Given the description of an element on the screen output the (x, y) to click on. 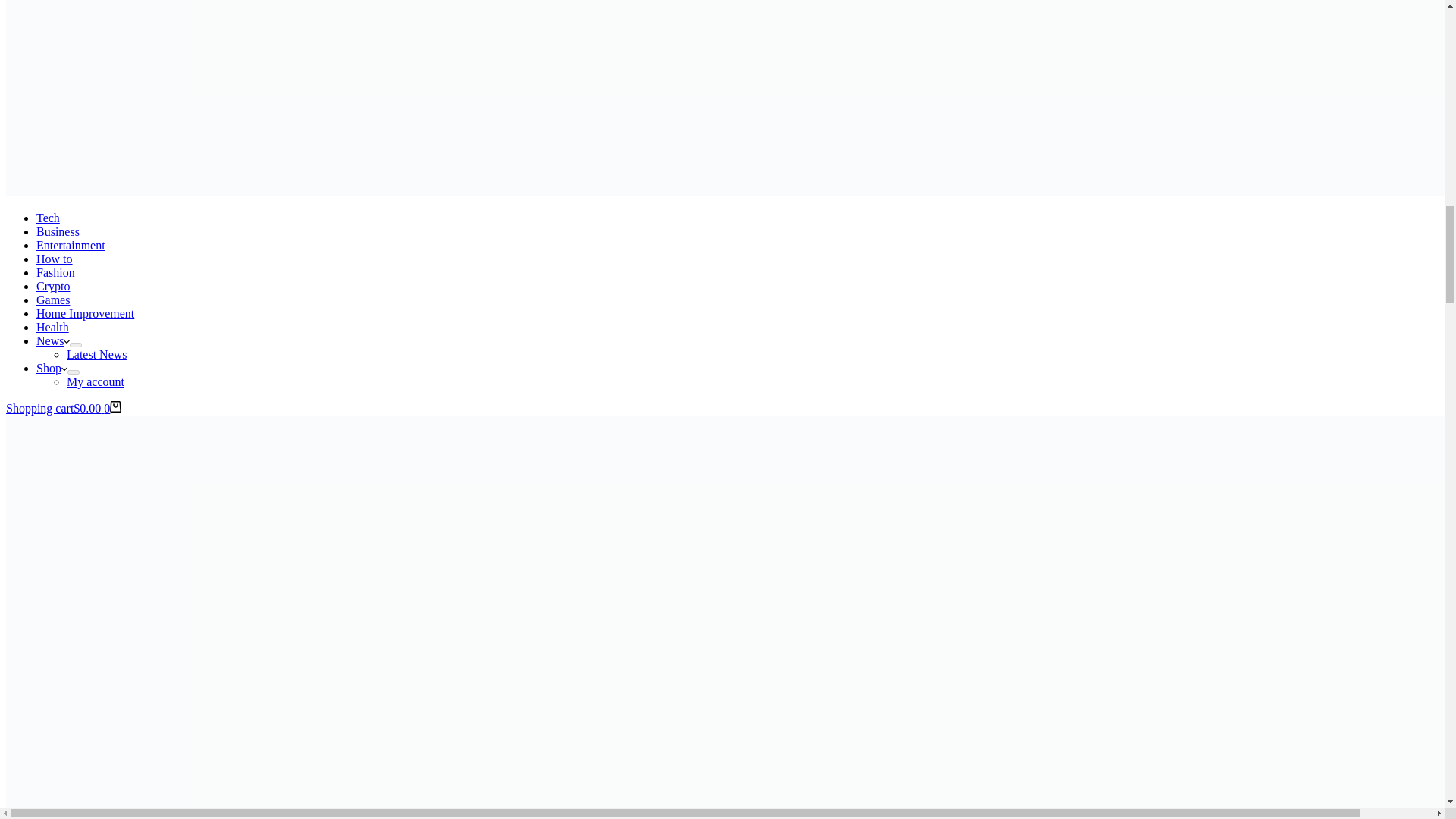
My account (94, 381)
Health (52, 327)
Crypto (52, 286)
How to (54, 258)
Games (52, 299)
Latest News (97, 354)
Business (58, 231)
Shop (51, 367)
Tech (47, 217)
Fashion (55, 272)
Entertainment (70, 245)
Home Improvement (84, 313)
News (52, 340)
